Given the description of an element on the screen output the (x, y) to click on. 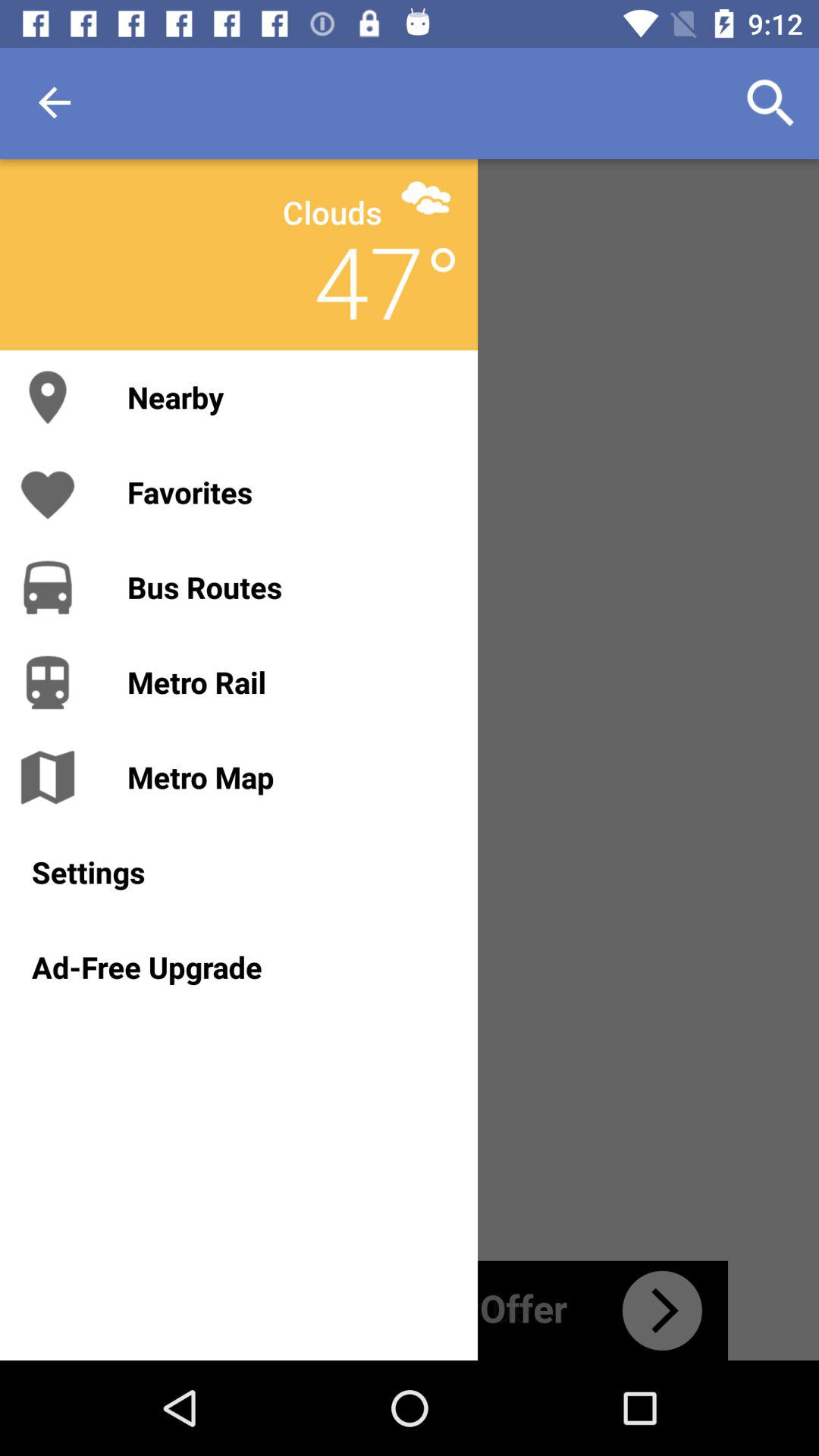
launch bus routes (286, 587)
